Given the description of an element on the screen output the (x, y) to click on. 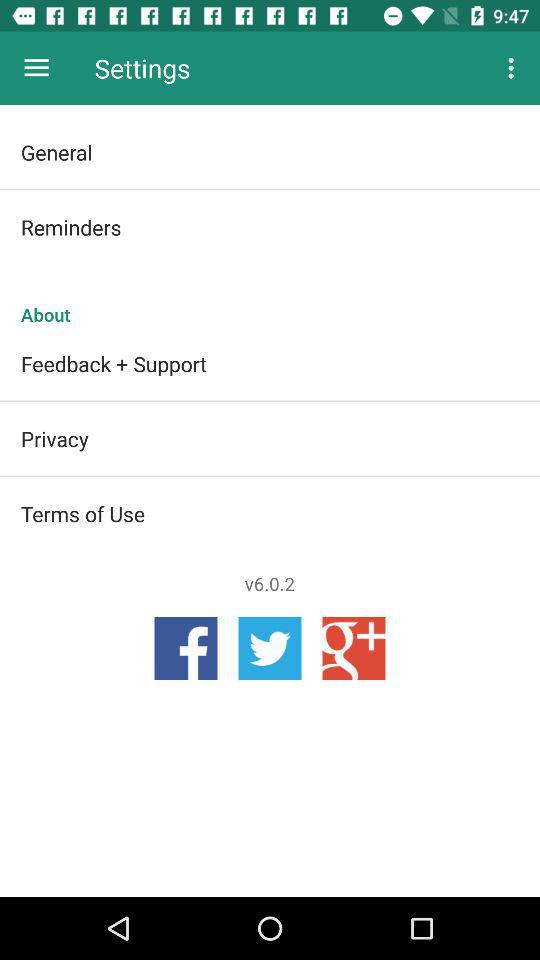
select item above the v6.0.2 (270, 513)
